Given the description of an element on the screen output the (x, y) to click on. 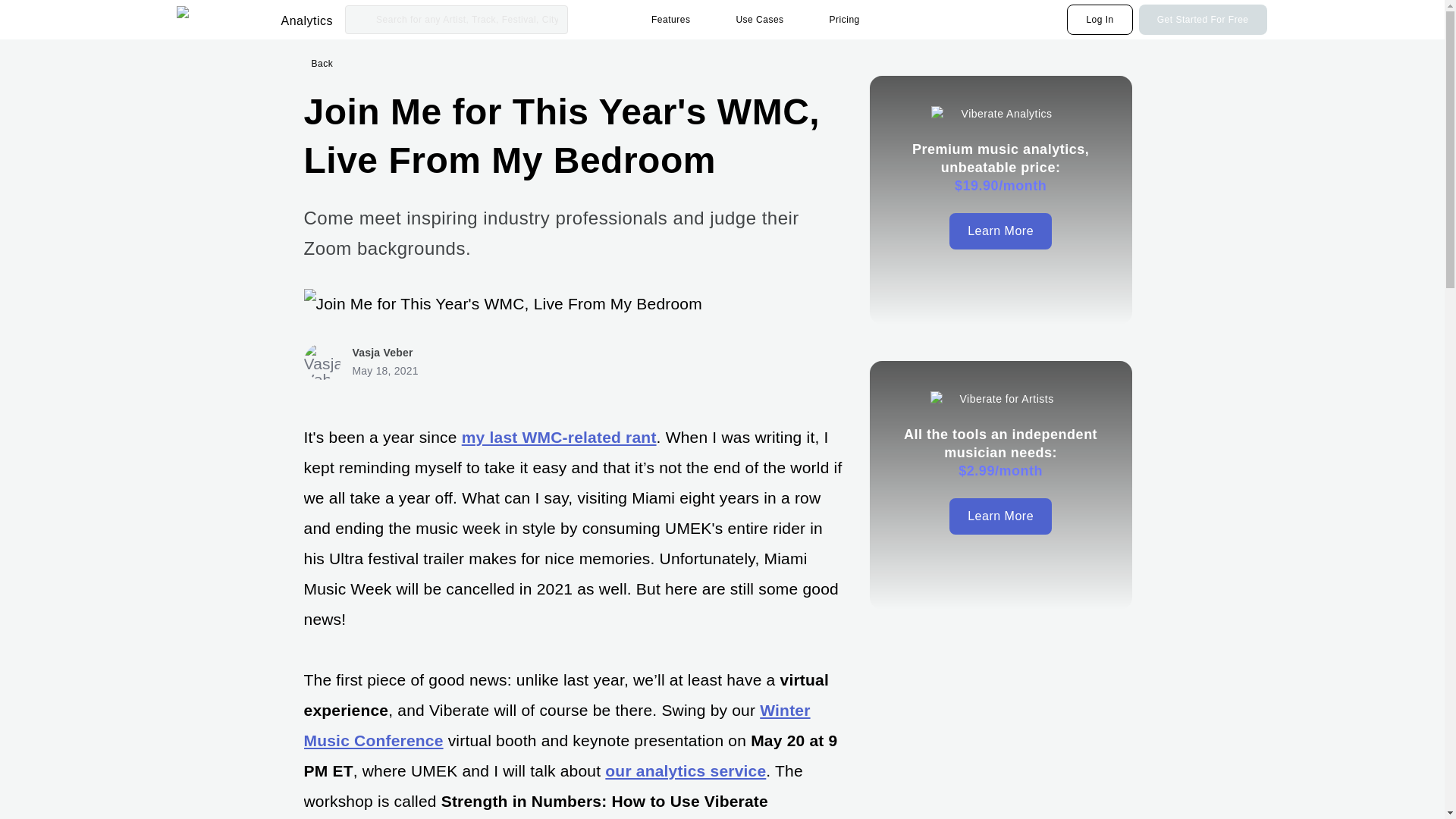
Viberate (225, 19)
Features (674, 19)
Log In (1099, 19)
Use Cases (763, 19)
Get Started For Free (1202, 19)
